Given the description of an element on the screen output the (x, y) to click on. 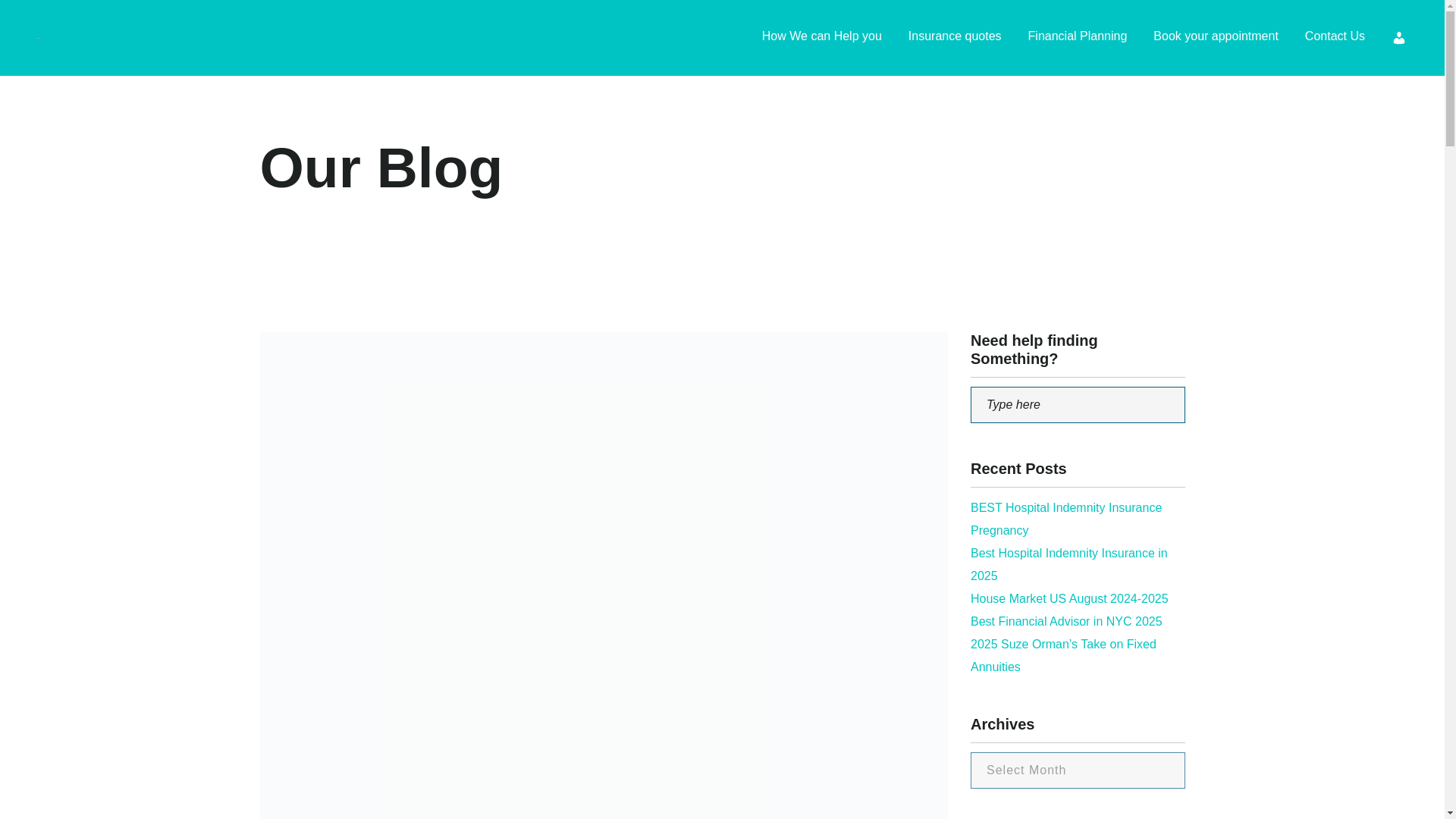
Book your appointment (1215, 38)
Financial Planning (1076, 38)
Insurance quotes (954, 38)
How We can Help you (821, 38)
